Given the description of an element on the screen output the (x, y) to click on. 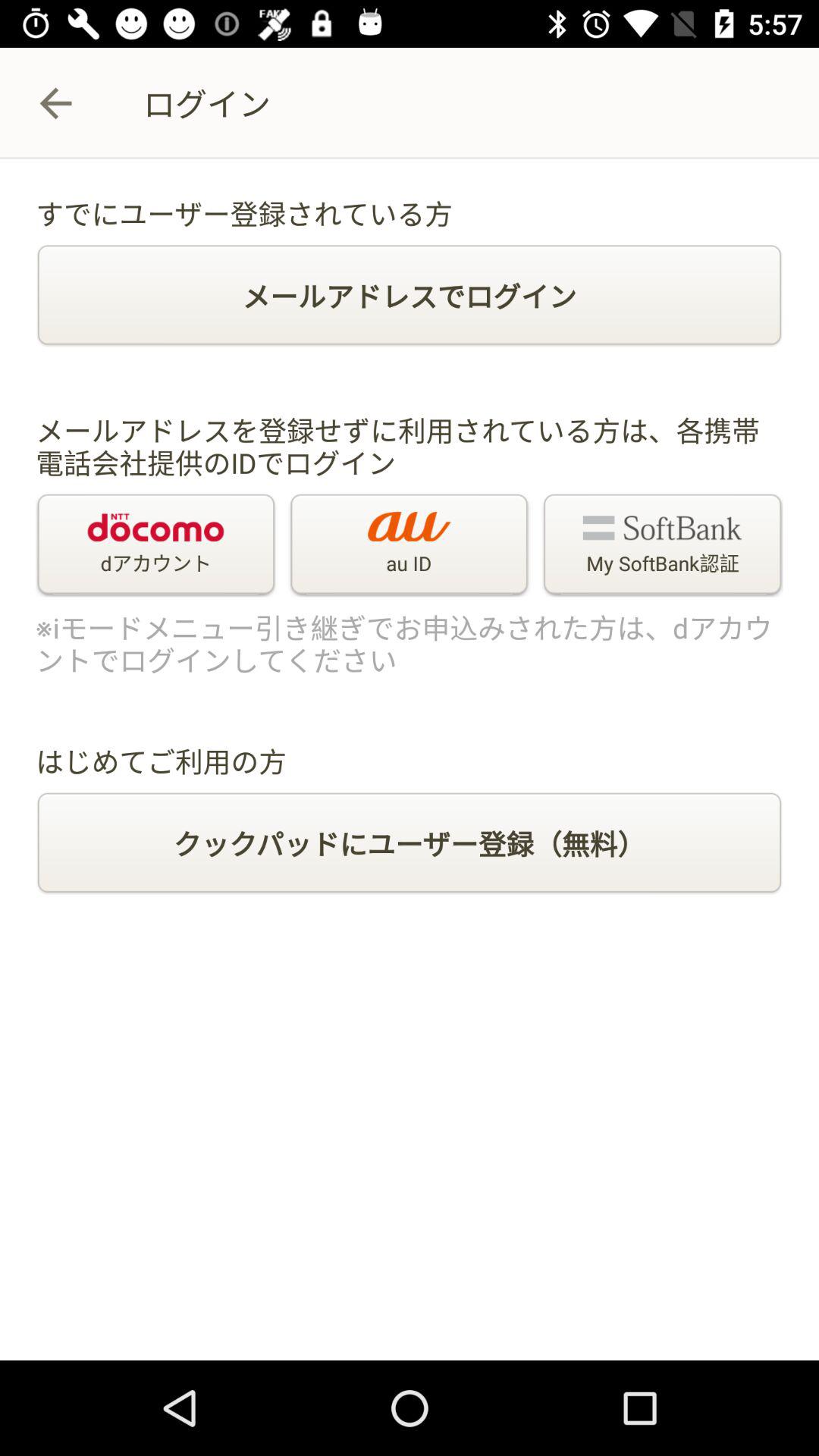
turn on item next to the au id (662, 545)
